Given the description of an element on the screen output the (x, y) to click on. 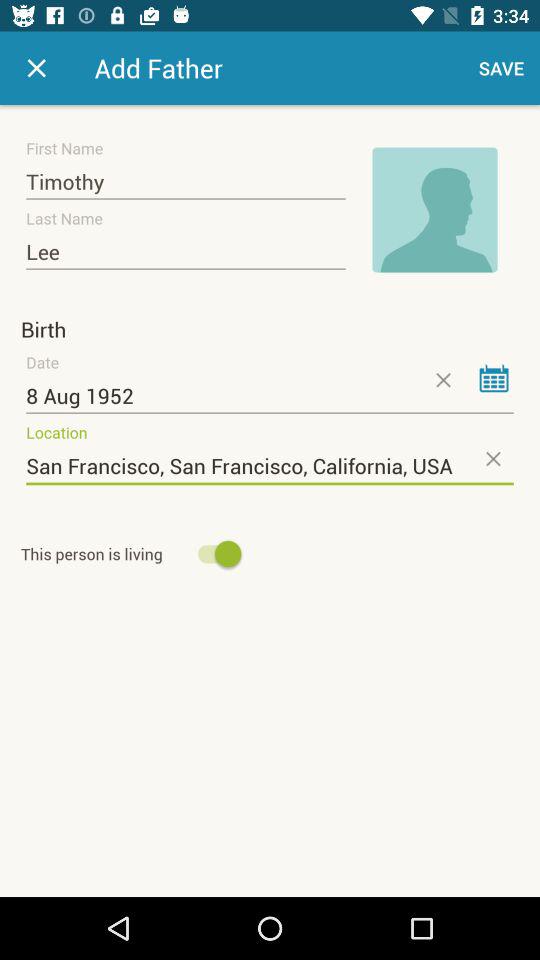
add profile picture (435, 210)
